Given the description of an element on the screen output the (x, y) to click on. 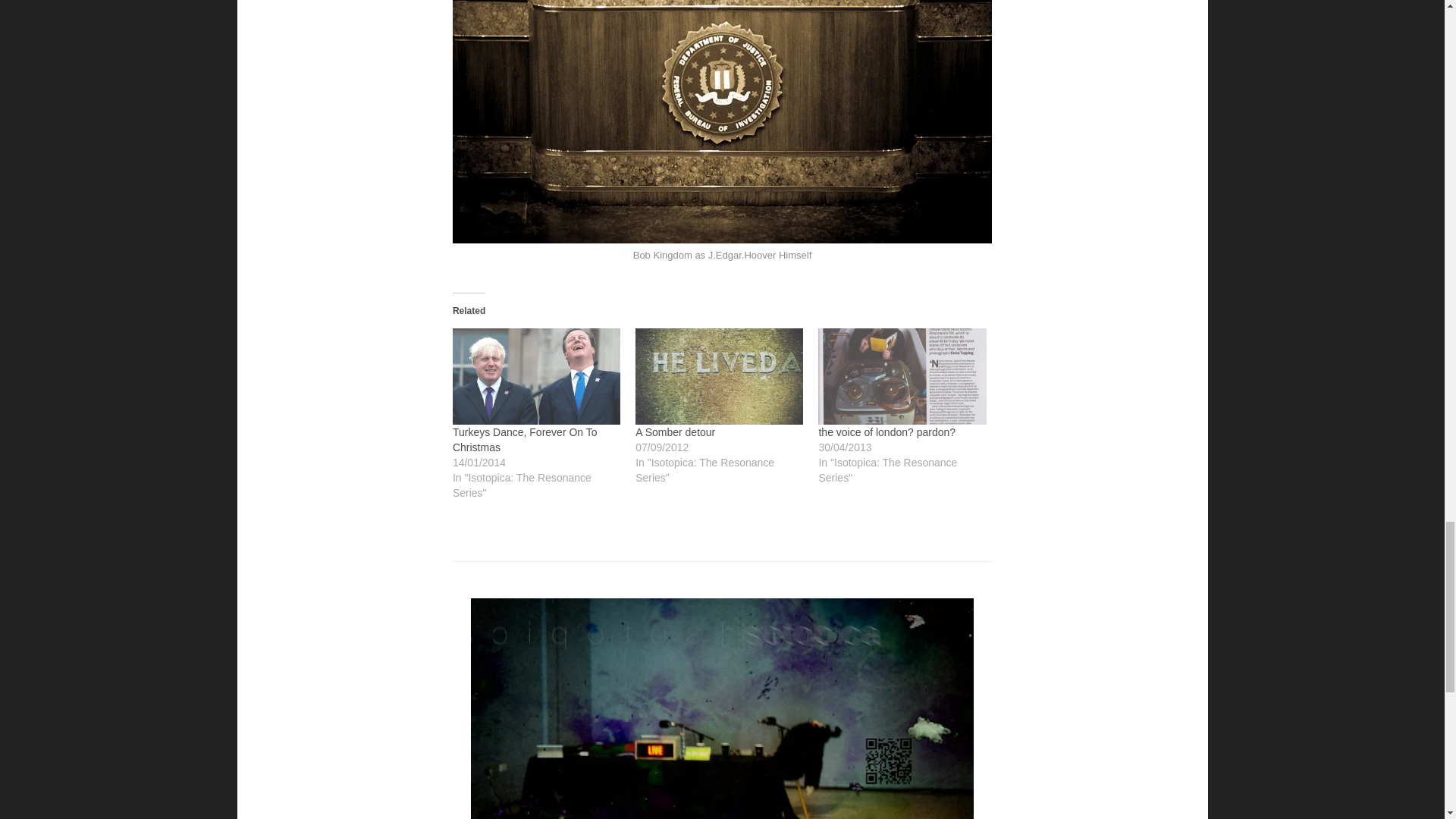
A Somber detour (674, 431)
A Somber detour (718, 376)
Turkeys Dance,  Forever On To Christmas (524, 439)
Turkeys Dance, Forever On To Christmas (524, 439)
the voice of london? pardon? (901, 376)
Turkeys Dance,  Forever On To Christmas (536, 376)
A Somber detour (674, 431)
the voice of london? pardon? (886, 431)
the voice of london? pardon? (886, 431)
